Given the description of an element on the screen output the (x, y) to click on. 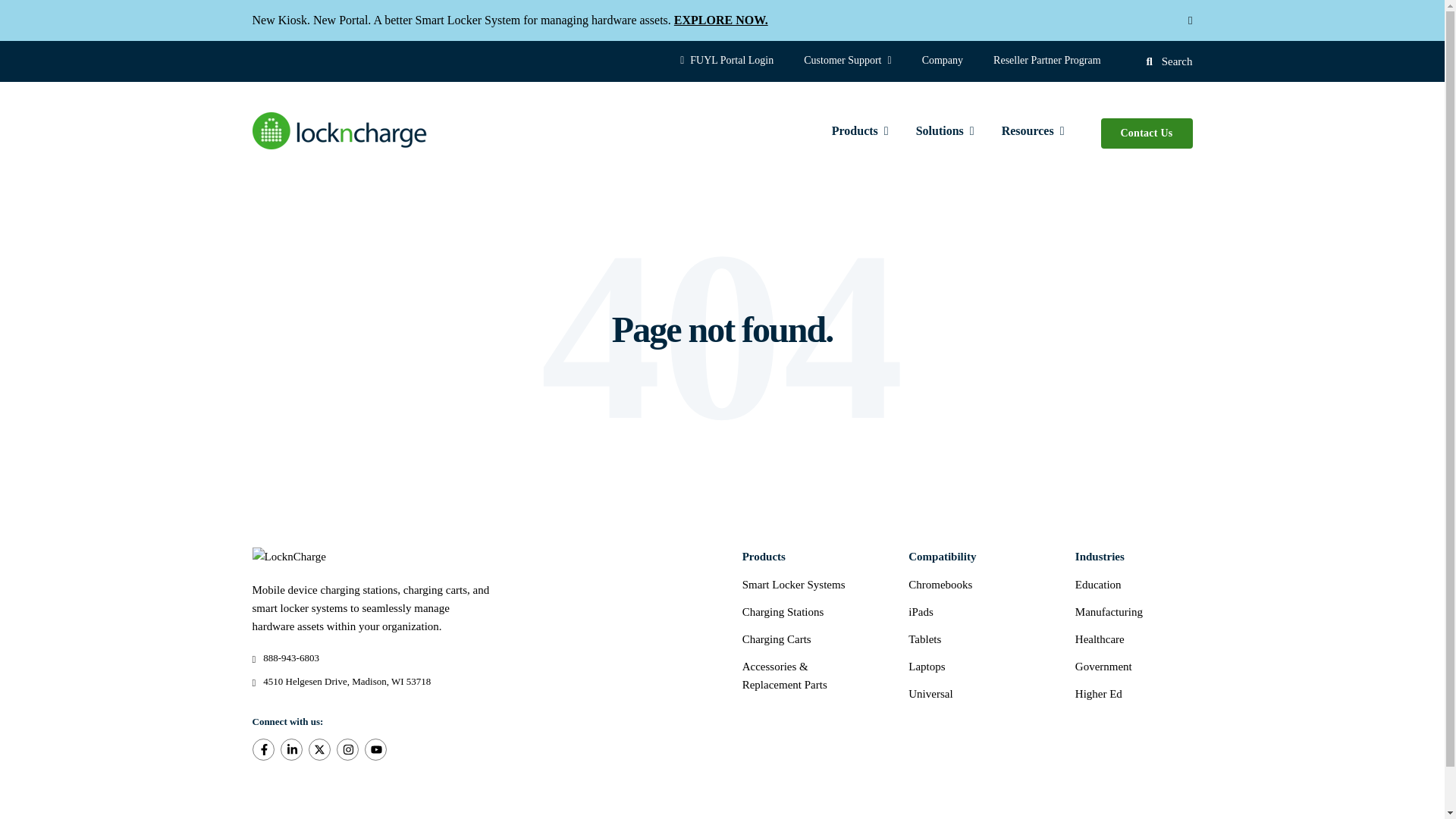
EXPLORE NOW. (721, 19)
Products (860, 132)
LocknCharge (338, 130)
LocknCharge (287, 556)
Customer Support (847, 60)
FUYL Portal Login (727, 60)
Company (942, 60)
Reseller Partner Program (1047, 60)
